Given the description of an element on the screen output the (x, y) to click on. 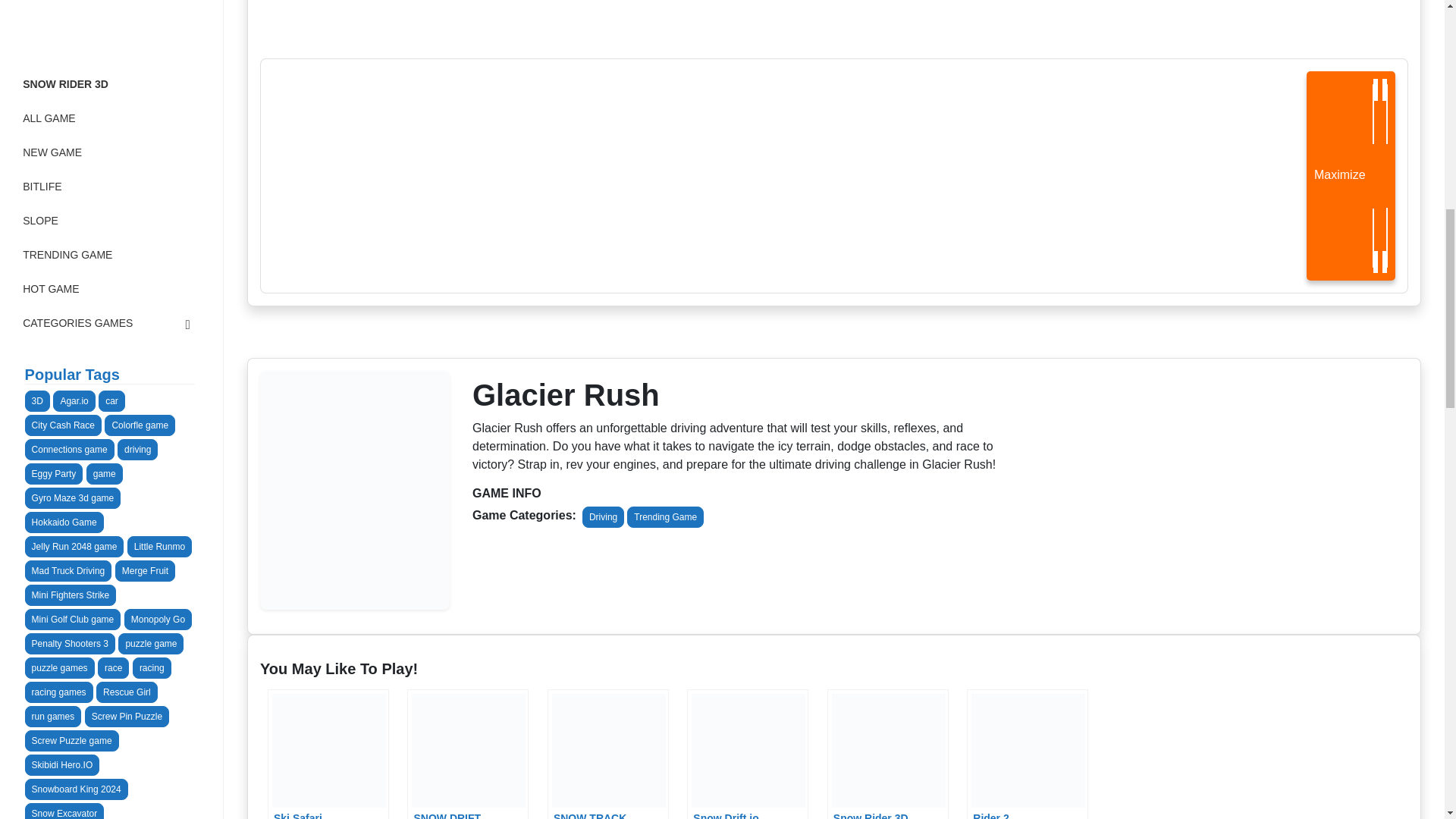
Rider 2 (1026, 754)
Snow Rider 3D Unblocked 76 (888, 754)
SNOW TRACK RACING 3D (607, 754)
SNOW DRIFT (467, 754)
Ski Safari (327, 754)
Snow Drift io (747, 754)
